Given the description of an element on the screen output the (x, y) to click on. 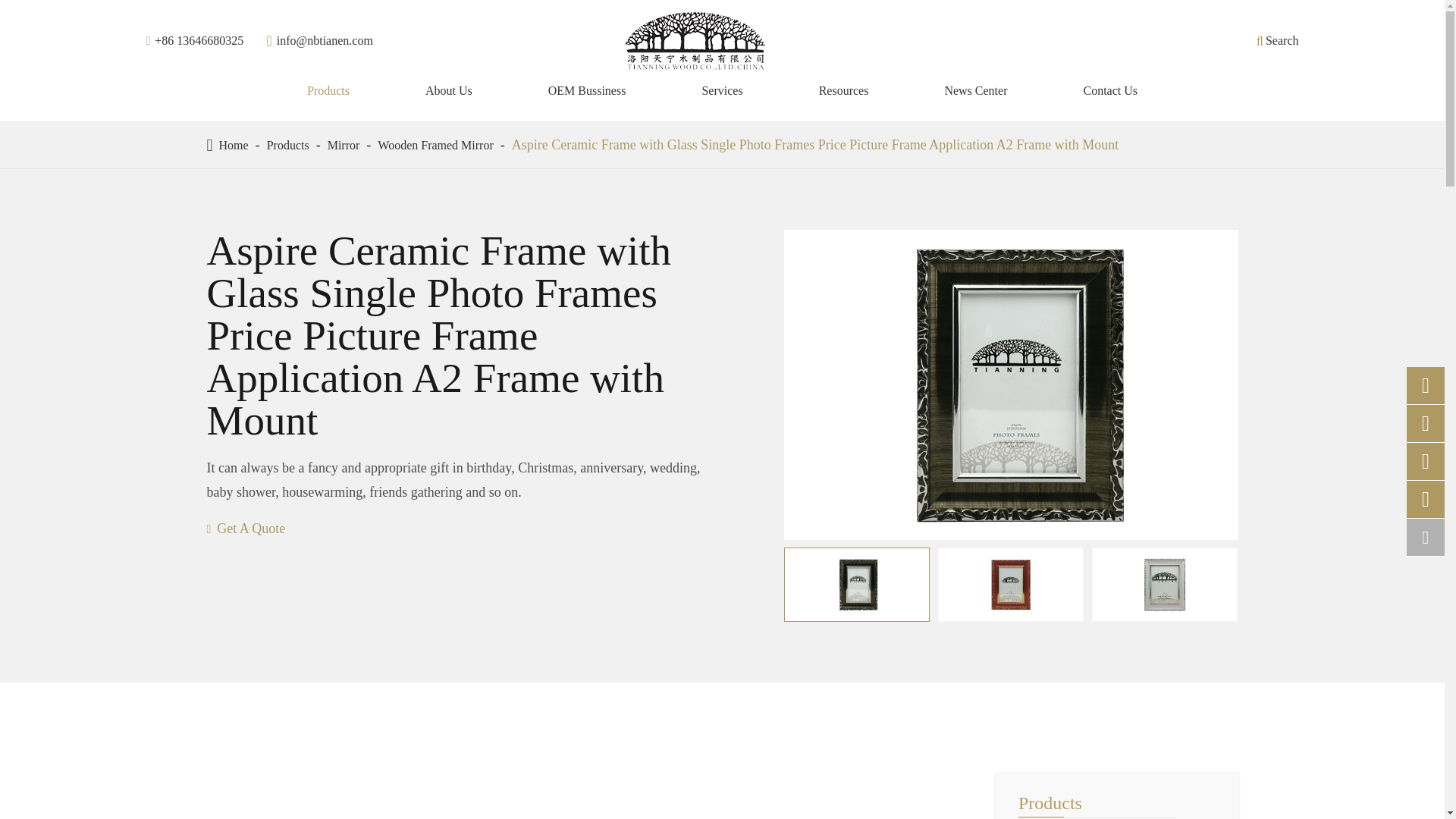
Products (328, 90)
About Us (448, 90)
Mirror (343, 144)
aspire ceramic frame with glass (1010, 584)
a2 frame with mount (856, 584)
Wooden Framed Mirror (435, 144)
Products (287, 144)
Luoyang Tianning Wood Co., Ltd. (694, 41)
